Given the description of an element on the screen output the (x, y) to click on. 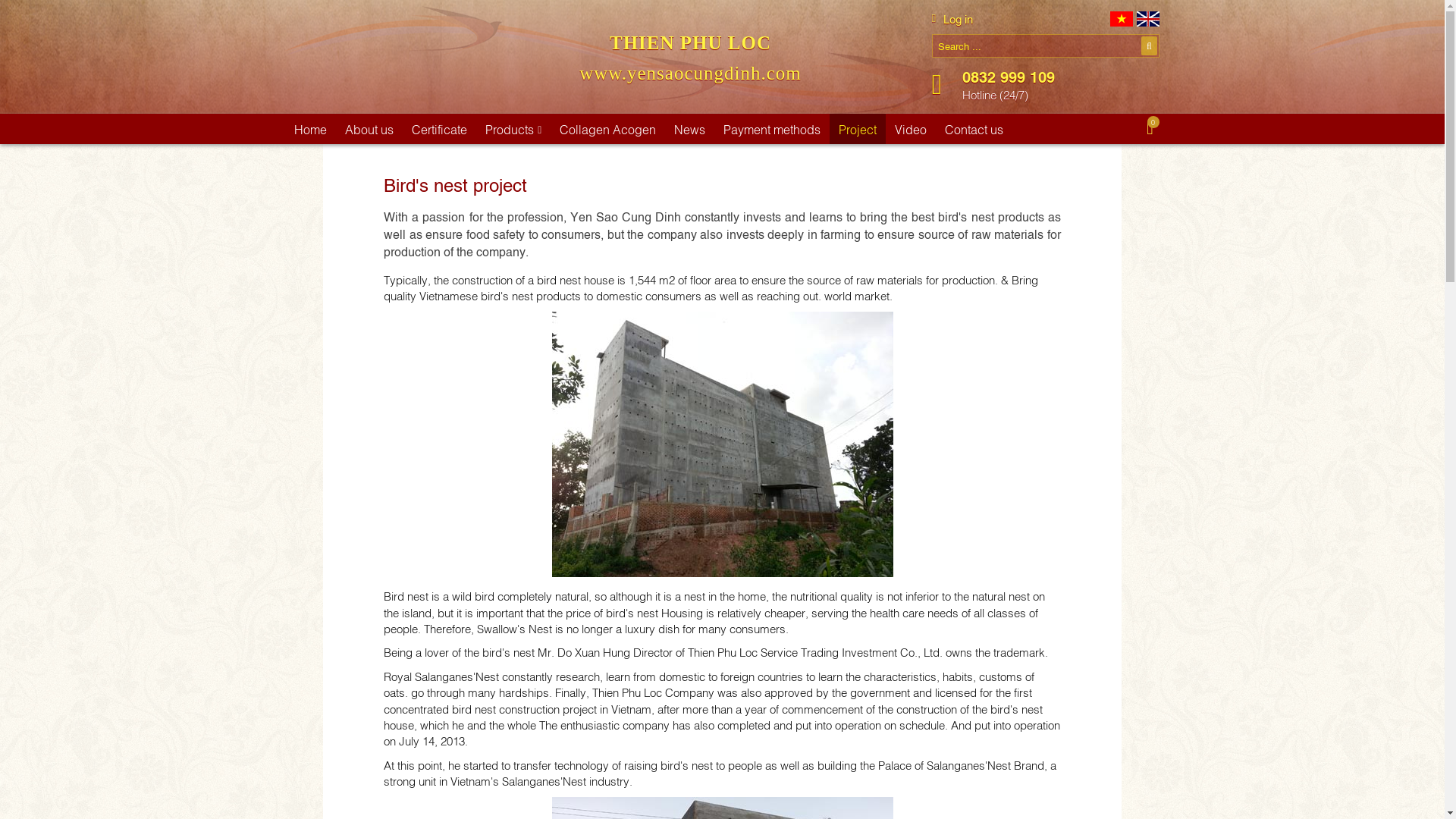
Contact us (973, 128)
Home (310, 128)
Collagen Acogen (607, 128)
News (689, 128)
About us (369, 128)
Project (857, 128)
Certificate (439, 128)
www.yensaocungdinh.com (690, 73)
Products (513, 128)
Video (910, 128)
0 (1152, 128)
Log in (951, 18)
Payment methods (771, 128)
